Given the description of an element on the screen output the (x, y) to click on. 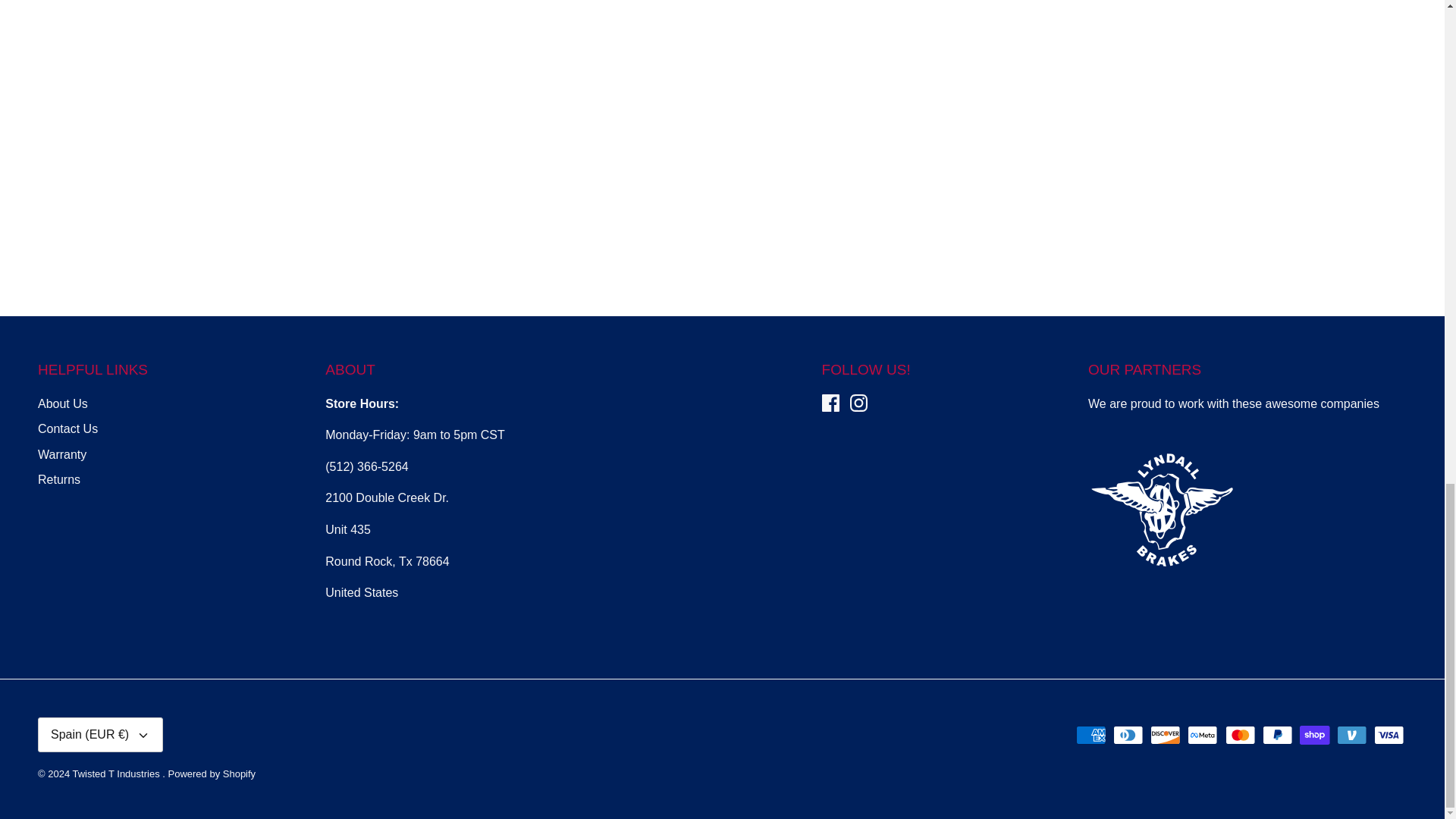
Facebook (831, 402)
Diners Club (1127, 734)
Shop Pay (1314, 734)
Instagram (858, 402)
Venmo (1351, 734)
Visa (1388, 734)
American Express (1090, 734)
PayPal (1277, 734)
Down (142, 735)
Meta Pay (1202, 734)
